Given the description of an element on the screen output the (x, y) to click on. 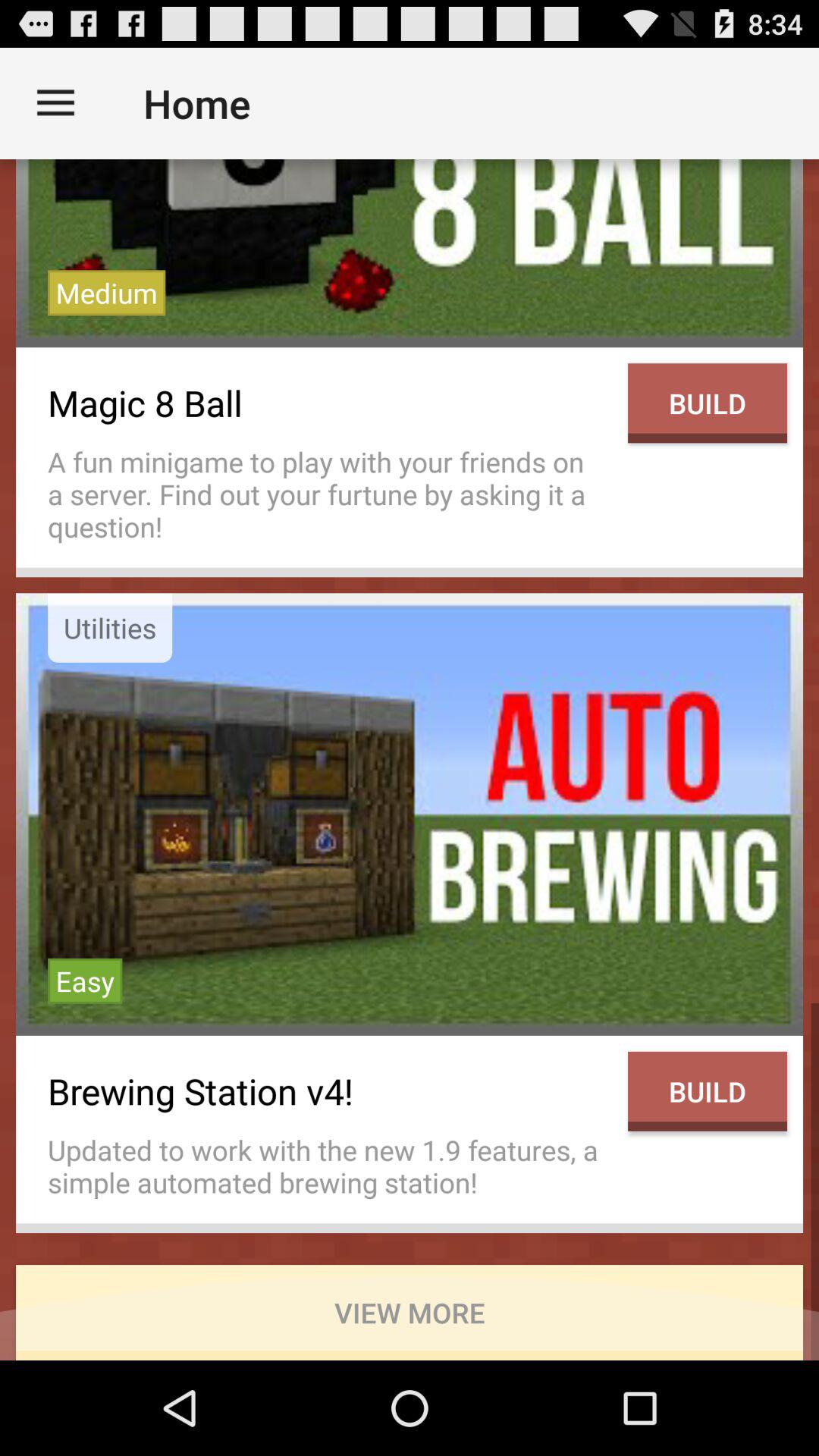
press the view more icon (409, 1312)
